Given the description of an element on the screen output the (x, y) to click on. 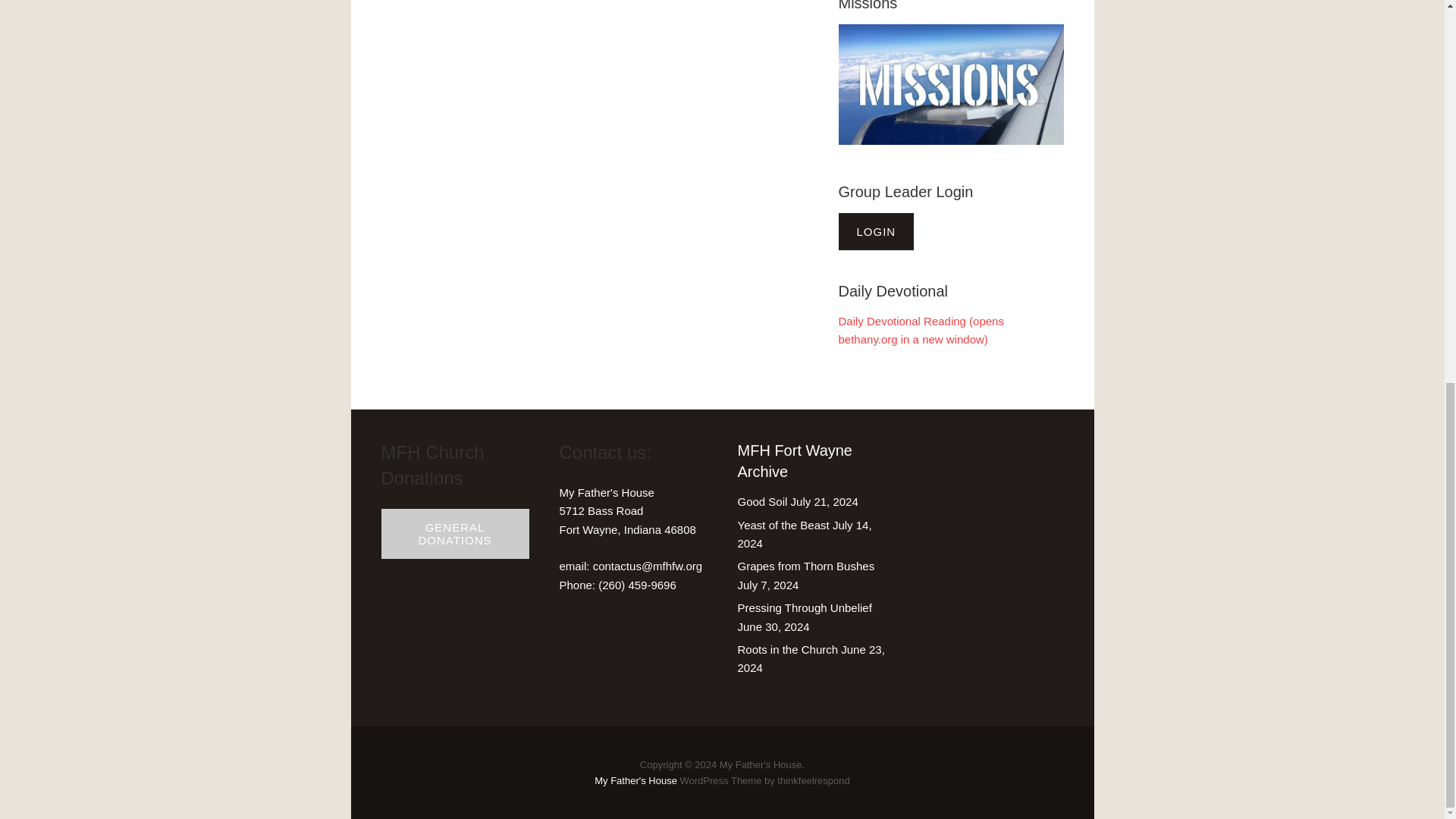
LOGIN (876, 231)
Pressing Through Unbelief (803, 607)
LOGIN (876, 231)
Roots in the Church (787, 649)
Yeast of the Beast (782, 524)
GENERAL DONATIONS (454, 533)
Grapes from Thorn Bushes (805, 565)
My Father's House (635, 780)
Good Soil (761, 501)
GENERAL DONATIONS (454, 533)
My Father's House WordPress Theme (635, 780)
